Given the description of an element on the screen output the (x, y) to click on. 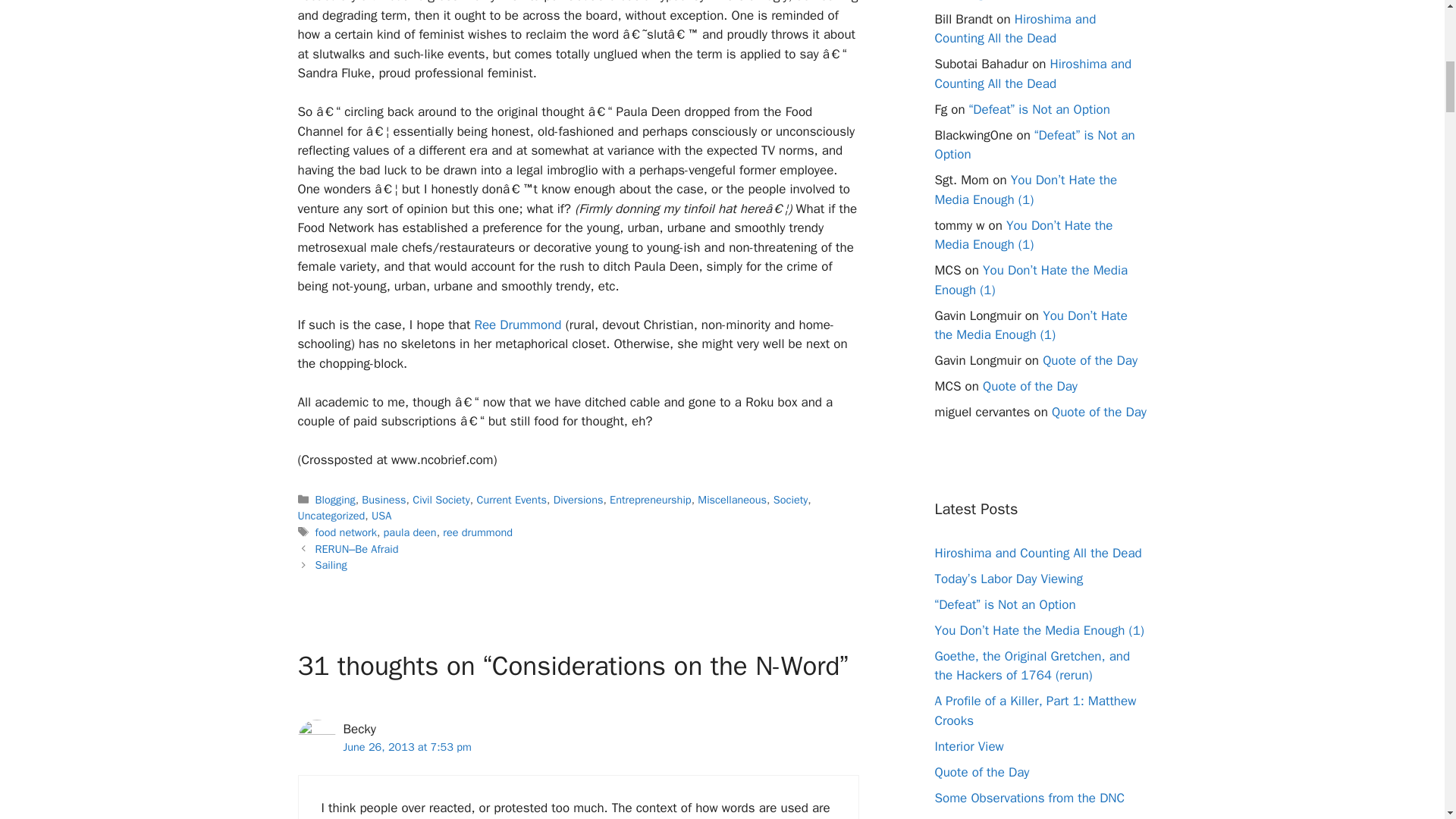
paula deen (410, 531)
food network (346, 531)
Ree Drummond (517, 324)
Society (790, 499)
Diversions (578, 499)
Uncategorized (331, 515)
ree drummond (477, 531)
June 26, 2013 at 7:53 pm (406, 746)
Business (383, 499)
Scroll back to top (1406, 720)
